Given the description of an element on the screen output the (x, y) to click on. 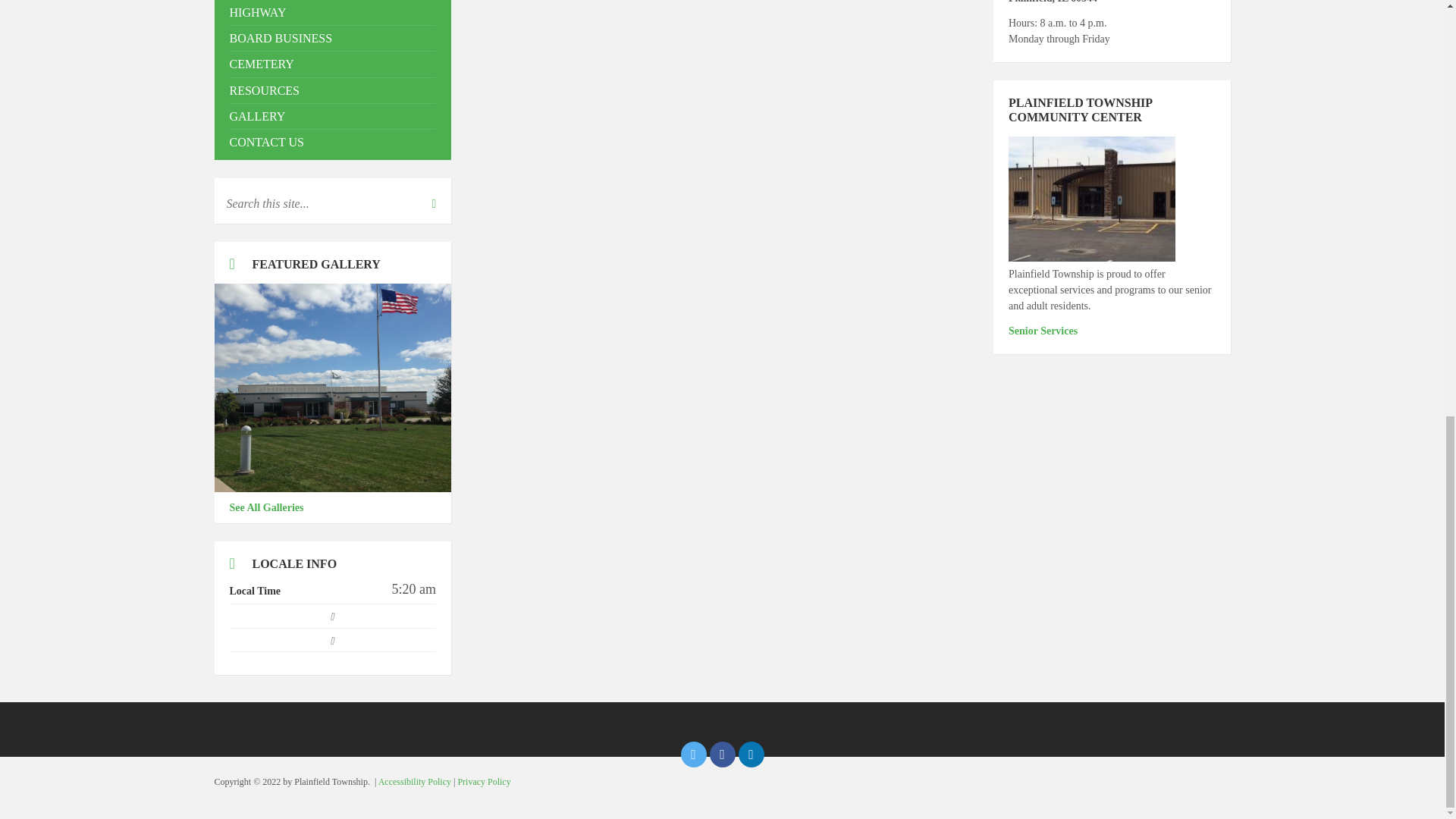
Featured Home Page (332, 387)
